Given the description of an element on the screen output the (x, y) to click on. 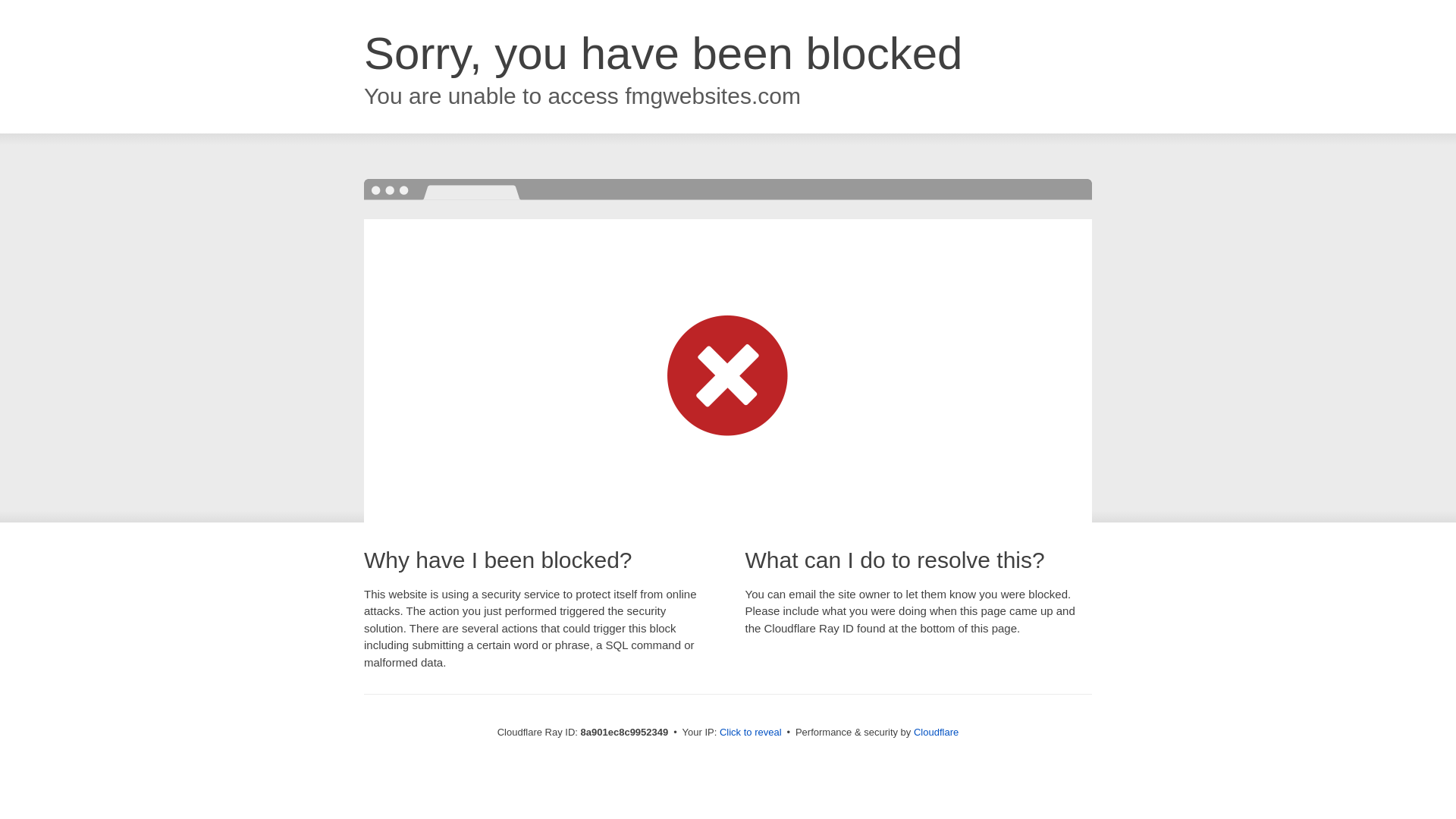
Cloudflare (936, 731)
Click to reveal (750, 732)
